Given the description of an element on the screen output the (x, y) to click on. 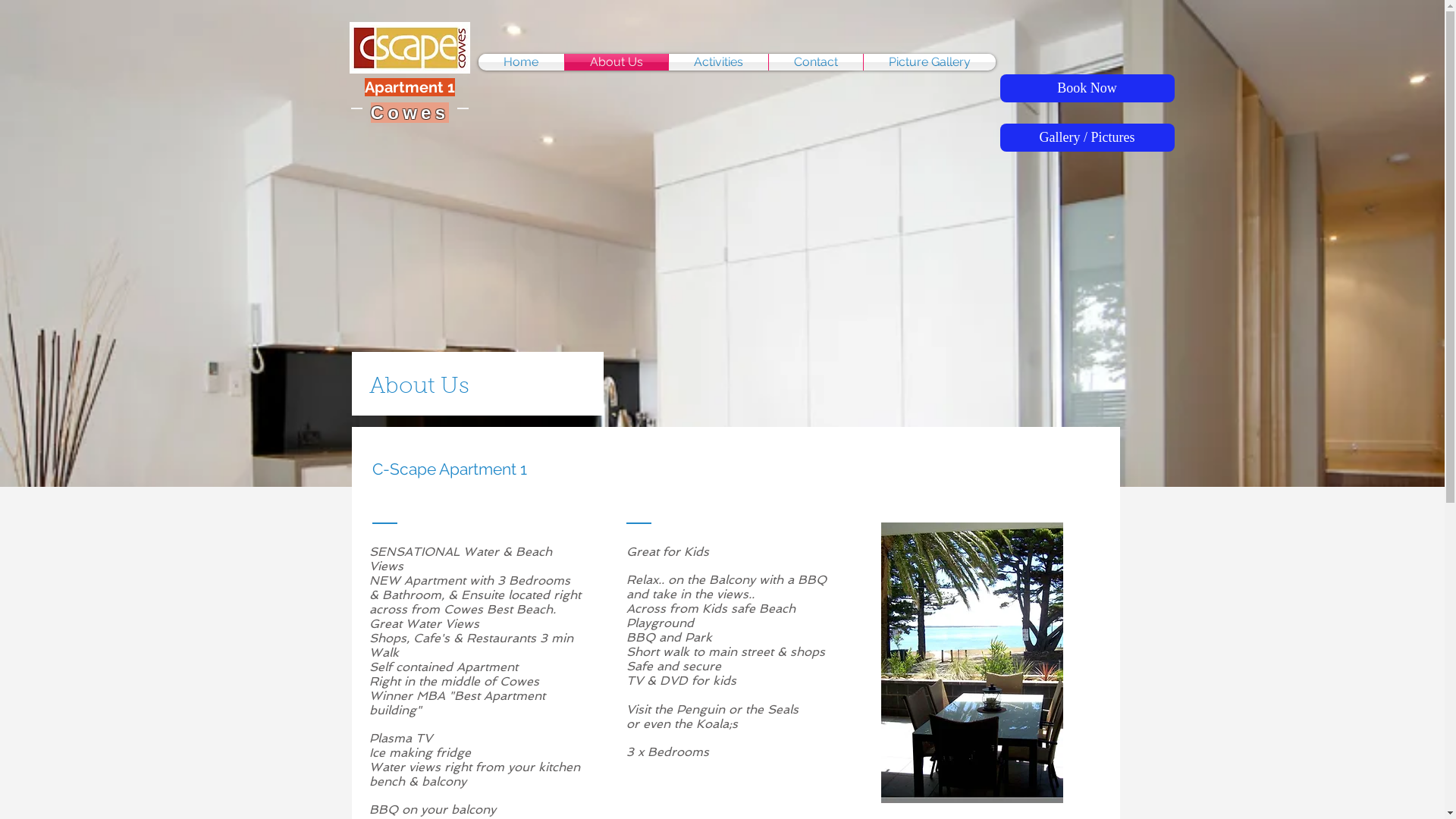
About Us Element type: text (615, 61)
Picture Gallery Element type: text (928, 61)
Home Element type: text (520, 61)
Apartment 1 Element type: text (409, 87)
Book Now Element type: text (1086, 88)
Contact Element type: text (815, 61)
Gallery / Pictures Element type: text (1086, 137)
Activities Element type: text (718, 61)
